Given the description of an element on the screen output the (x, y) to click on. 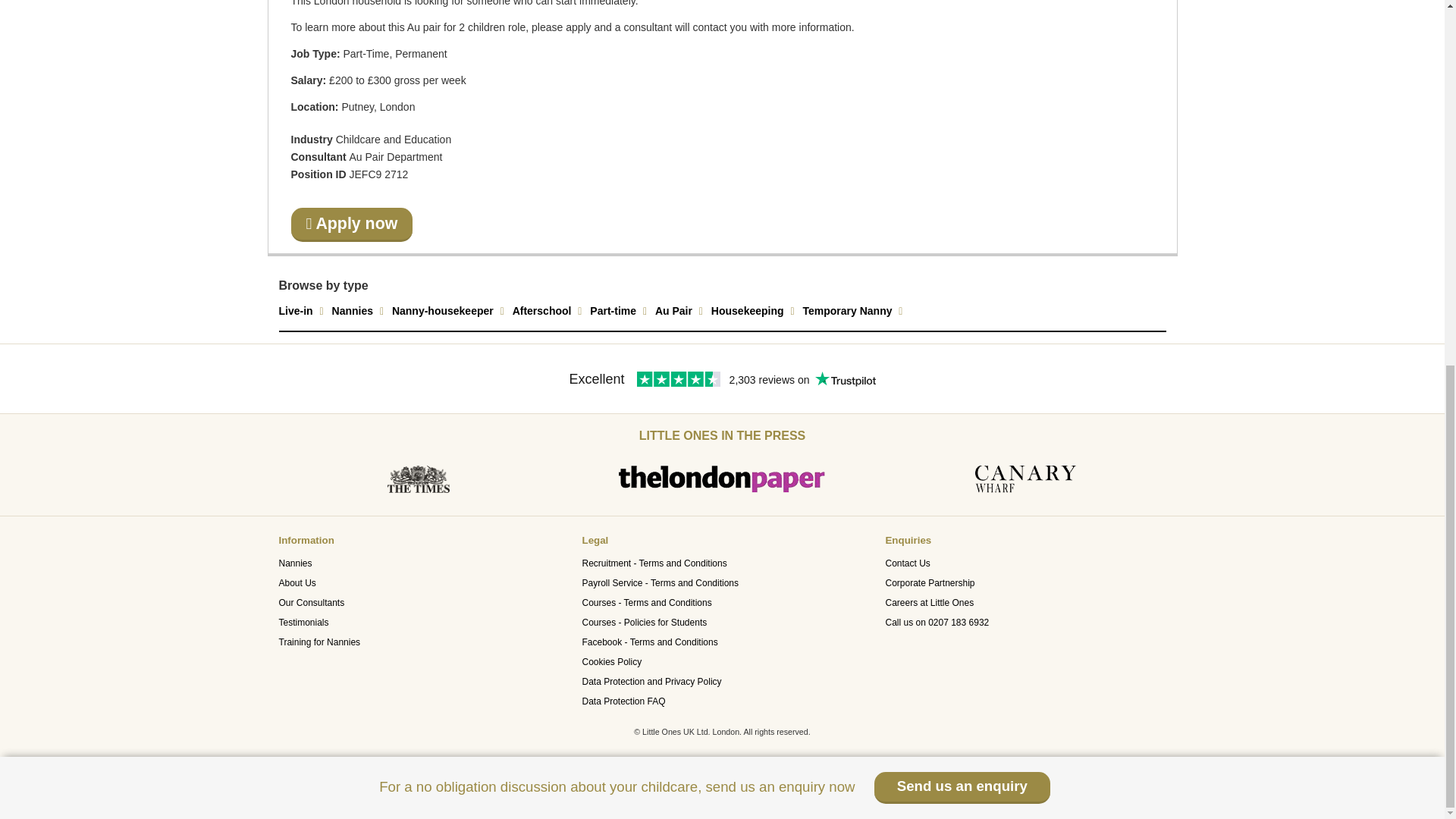
Customer reviews powered by Trustpilot (722, 389)
